Given the description of an element on the screen output the (x, y) to click on. 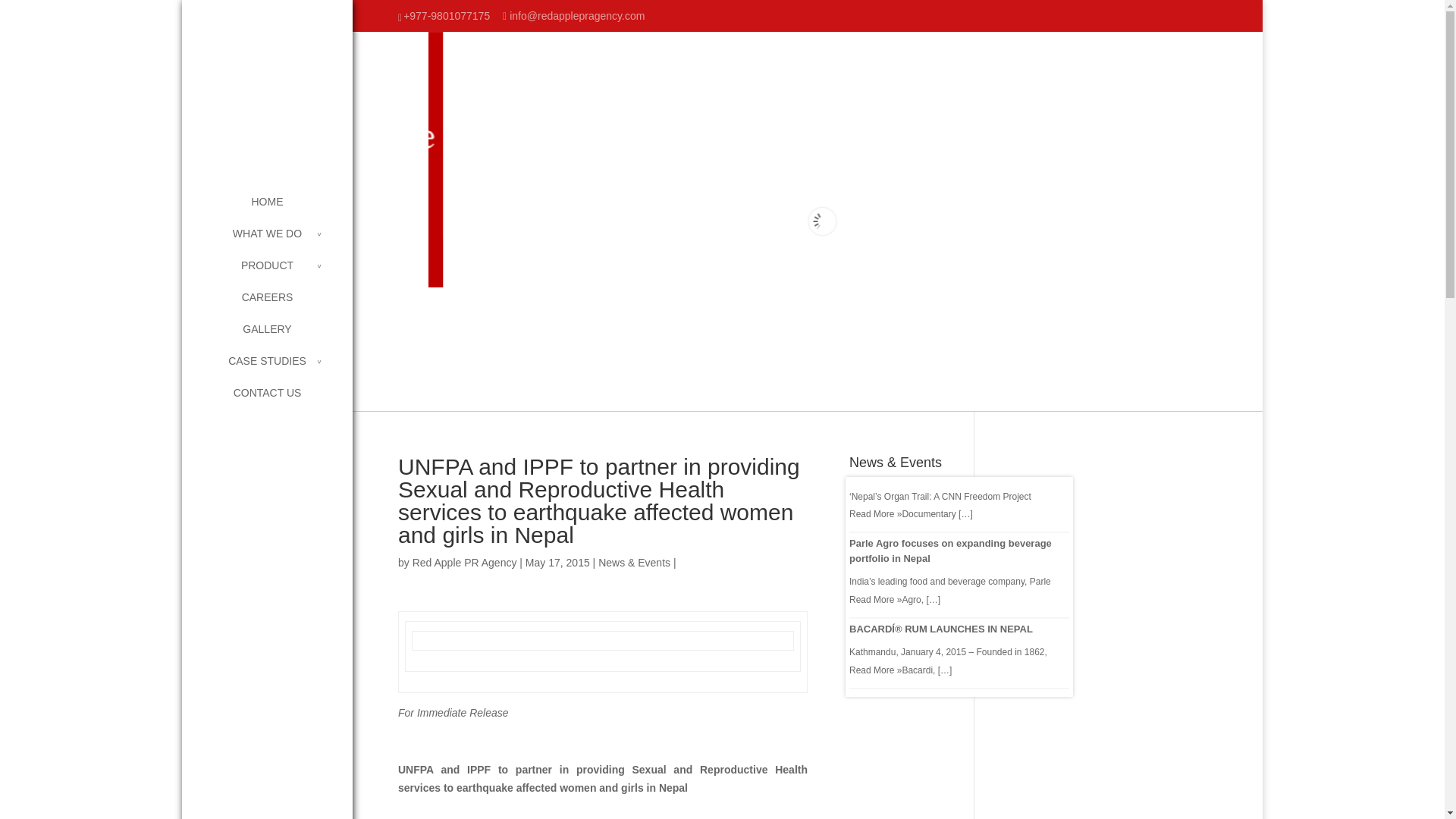
GALLERY (282, 336)
HOME (282, 209)
WHAT WE DO (282, 241)
CAREERS (282, 305)
CONTACT US (282, 400)
CASE STUDIES (282, 368)
Permalink to The brutal kidney trade in Nepal (923, 473)
PRODUCT (282, 273)
Posts by Red Apple PR Agency (464, 562)
